Given the description of an element on the screen output the (x, y) to click on. 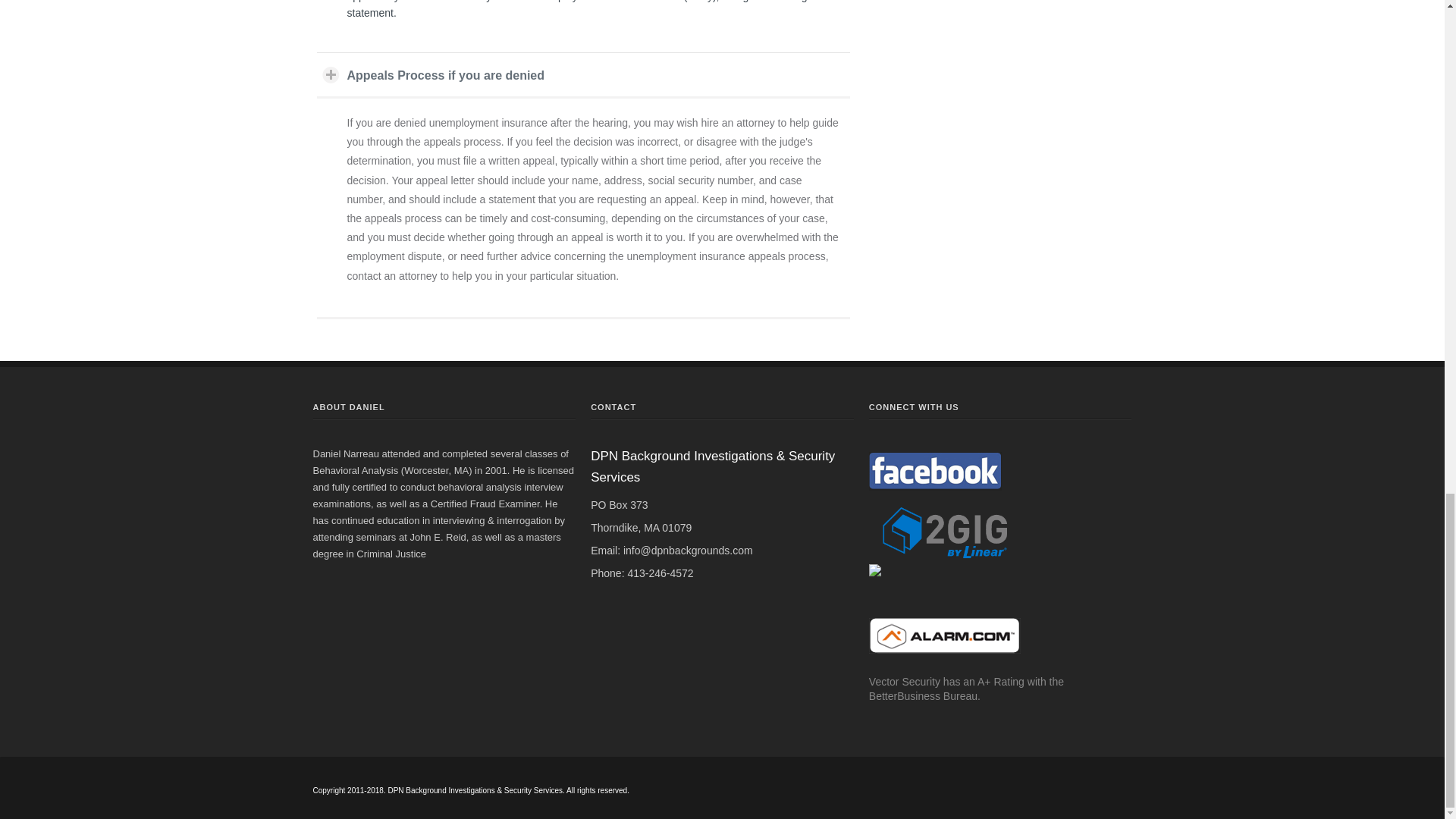
Appeals Process if you are denied (583, 74)
